Given the description of an element on the screen output the (x, y) to click on. 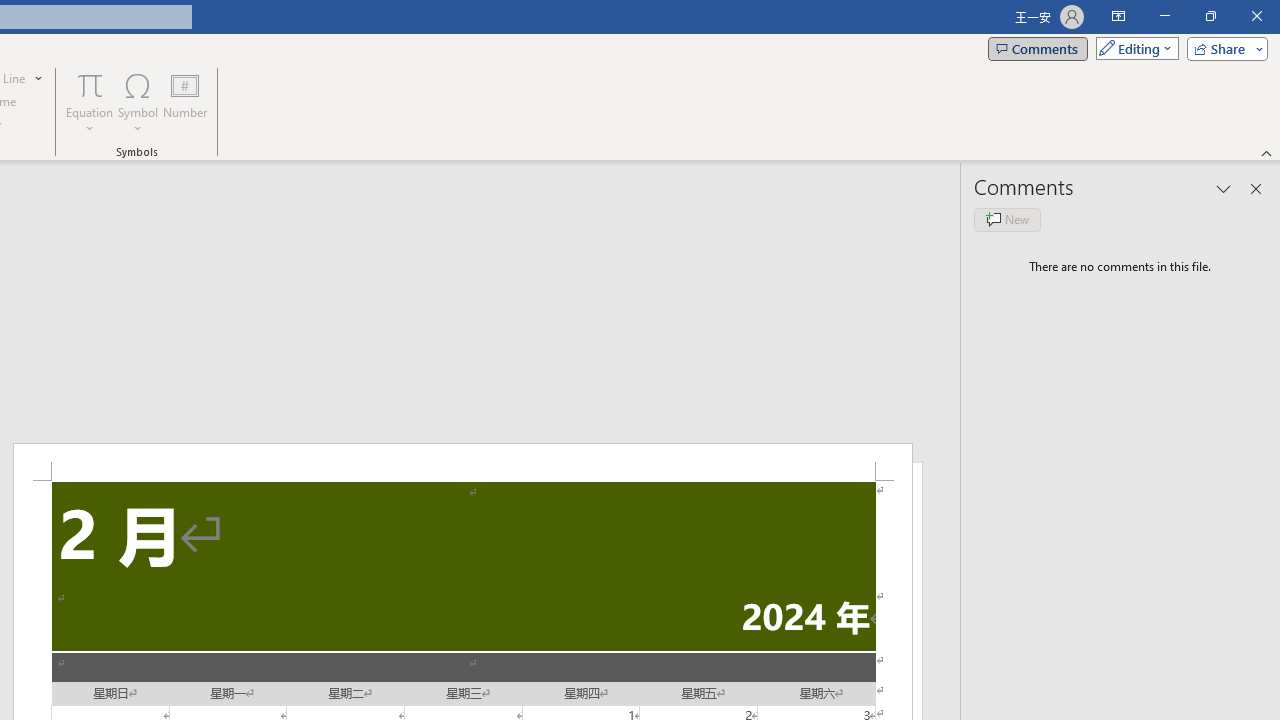
Equation (90, 102)
Restore Down (1210, 16)
Collapse the Ribbon (1267, 152)
Share (1223, 48)
Header -Section 2- (462, 461)
Close pane (1256, 188)
Comments (1038, 48)
New comment (1007, 219)
Ribbon Display Options (1118, 16)
Number... (185, 102)
Mode (1133, 47)
Minimize (1164, 16)
Symbol (138, 102)
